Given the description of an element on the screen output the (x, y) to click on. 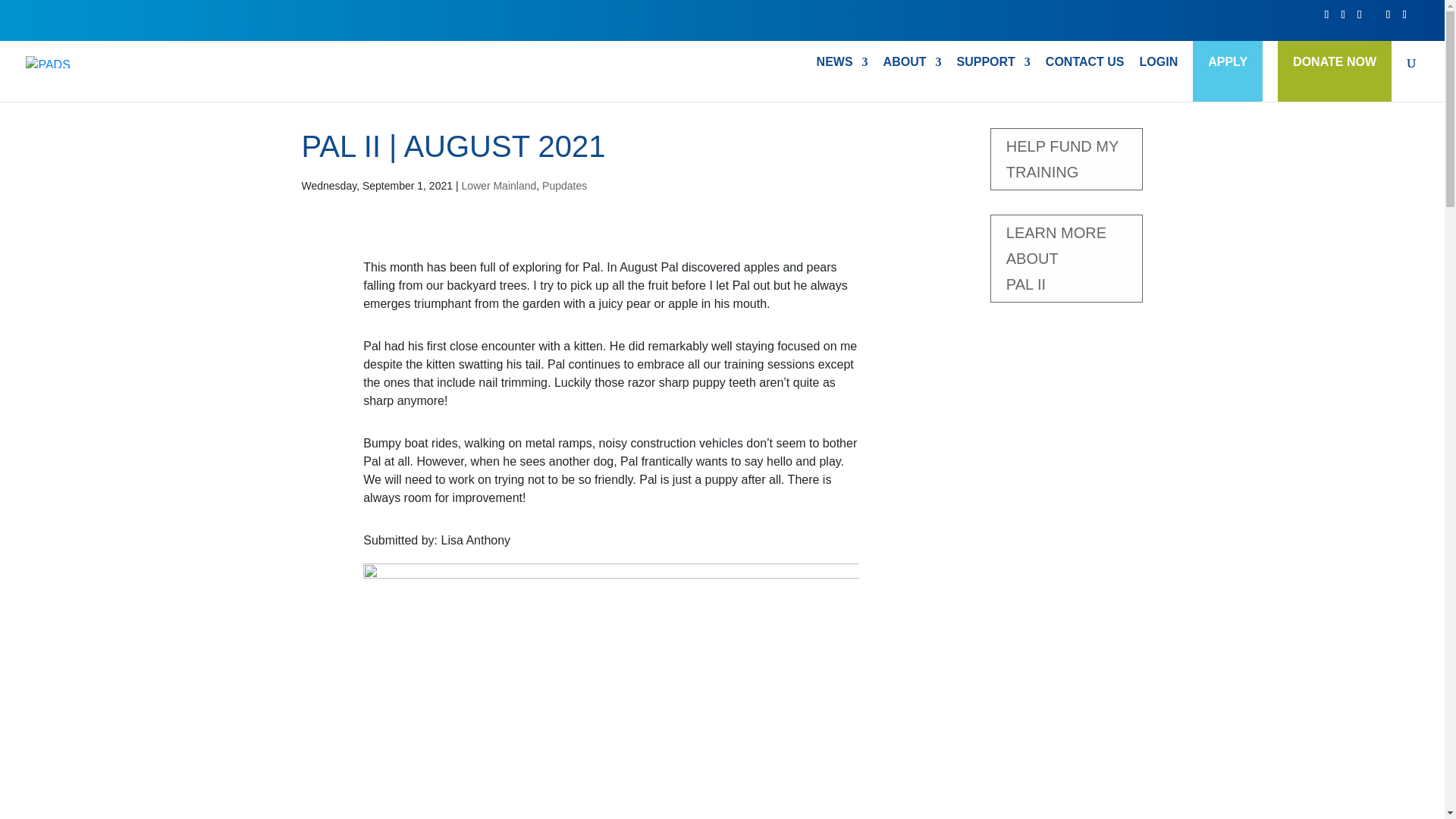
CONTACT US (1084, 78)
HELP FUND MY TRAINING (1066, 158)
DONATE NOW (1066, 258)
Lower Mainland (1334, 61)
ABOUT (498, 185)
Pupdates (912, 78)
SUPPORT (563, 185)
NEWS (992, 78)
